Given the description of an element on the screen output the (x, y) to click on. 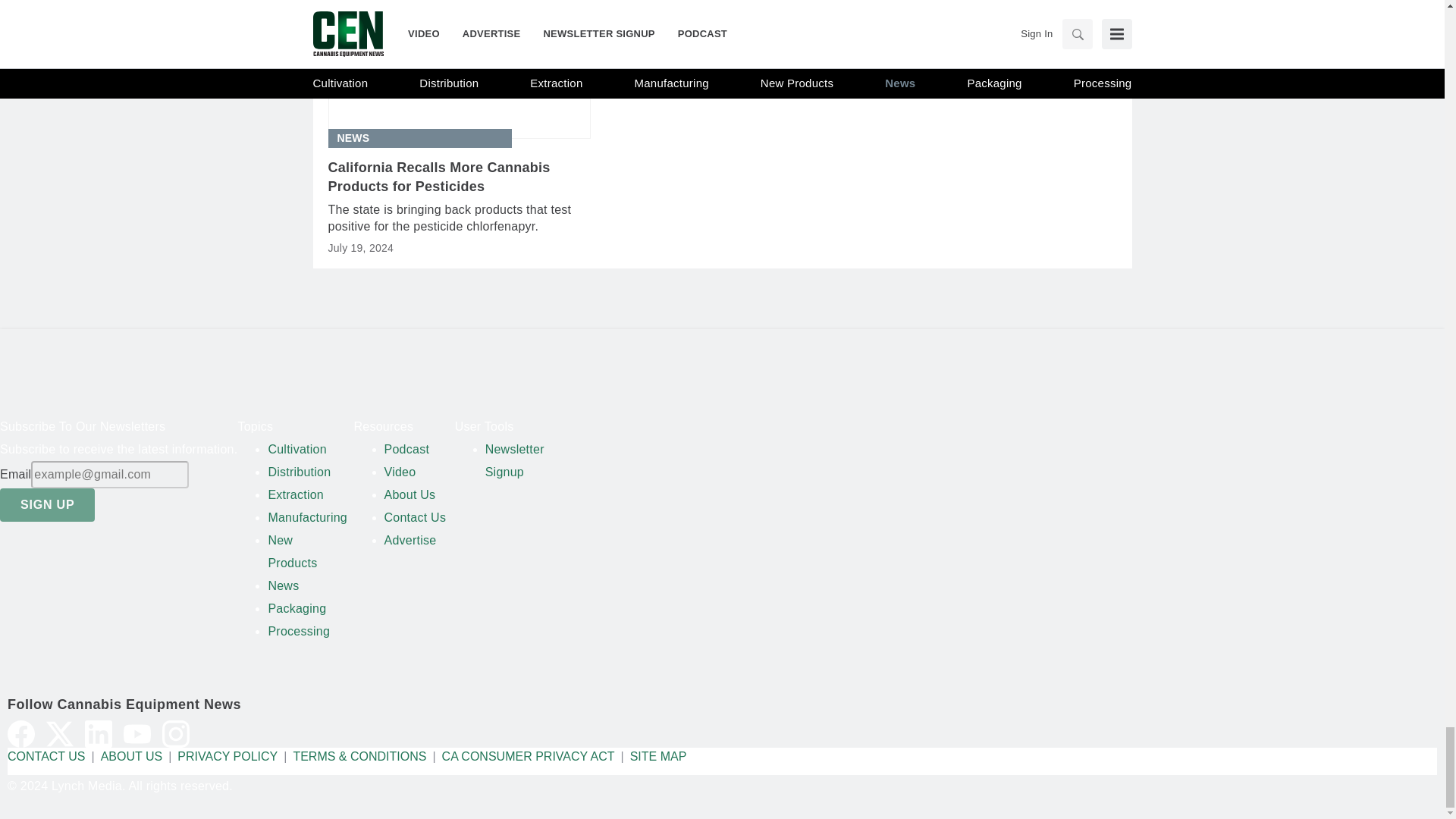
LinkedIn icon (98, 733)
Facebook icon (20, 733)
Twitter X icon (60, 733)
YouTube icon (137, 733)
Instagram icon (175, 733)
